Given the description of an element on the screen output the (x, y) to click on. 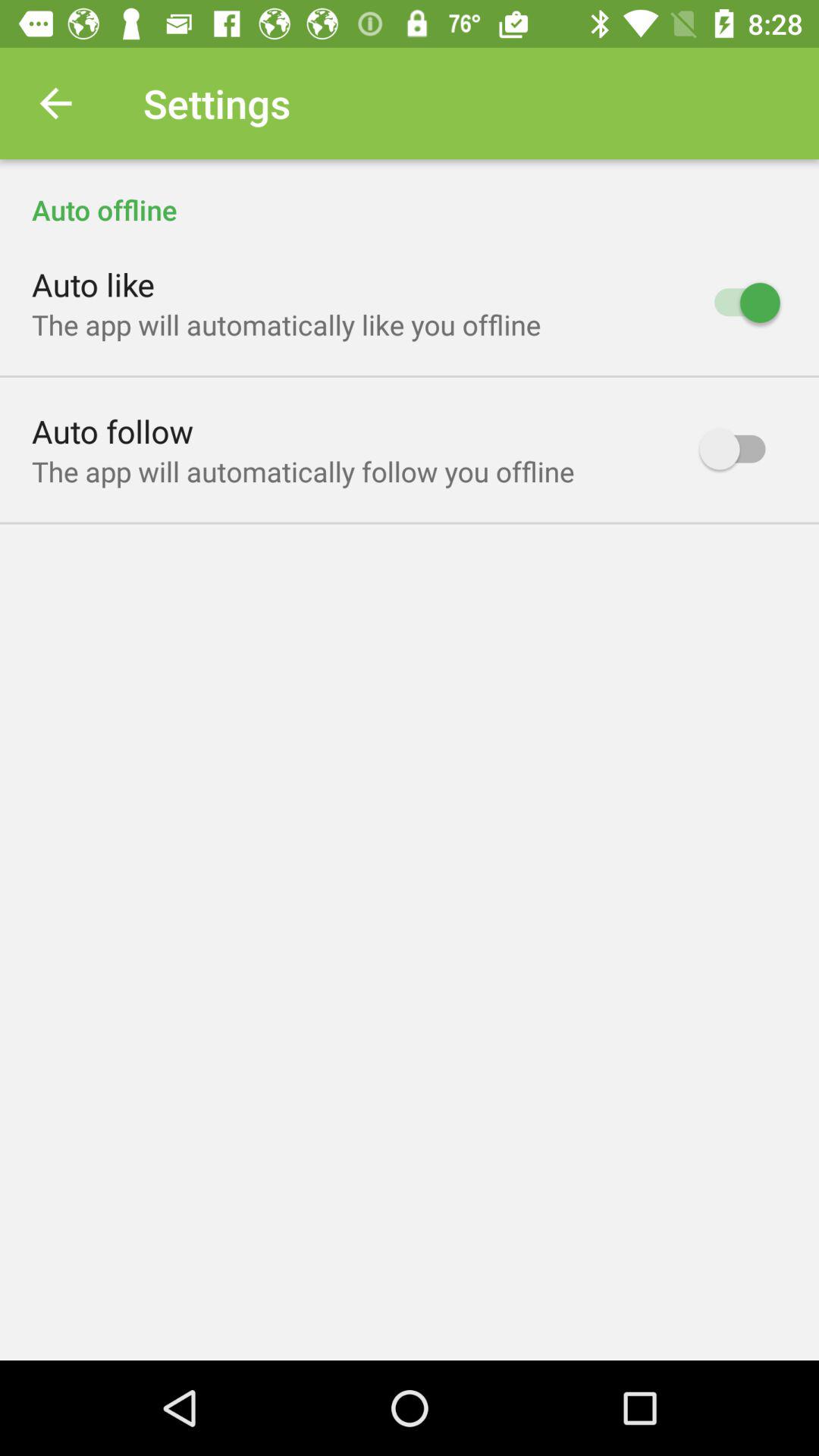
click icon above the auto like item (409, 193)
